Given the description of an element on the screen output the (x, y) to click on. 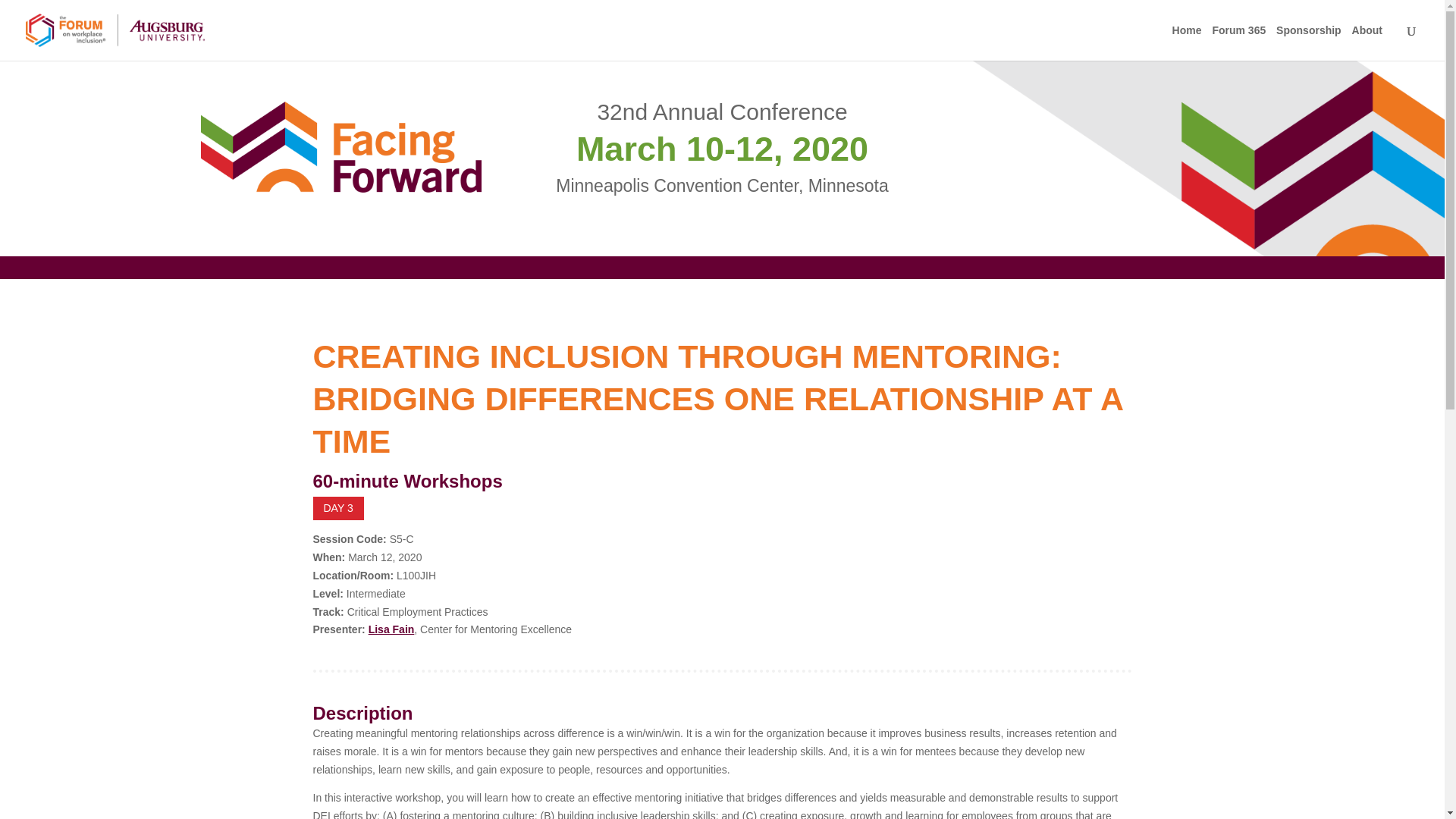
Sponsorship (1312, 42)
About (1371, 42)
Lisa Fain (391, 629)
Forum 365 (1241, 42)
Home (1190, 42)
